Given the description of an element on the screen output the (x, y) to click on. 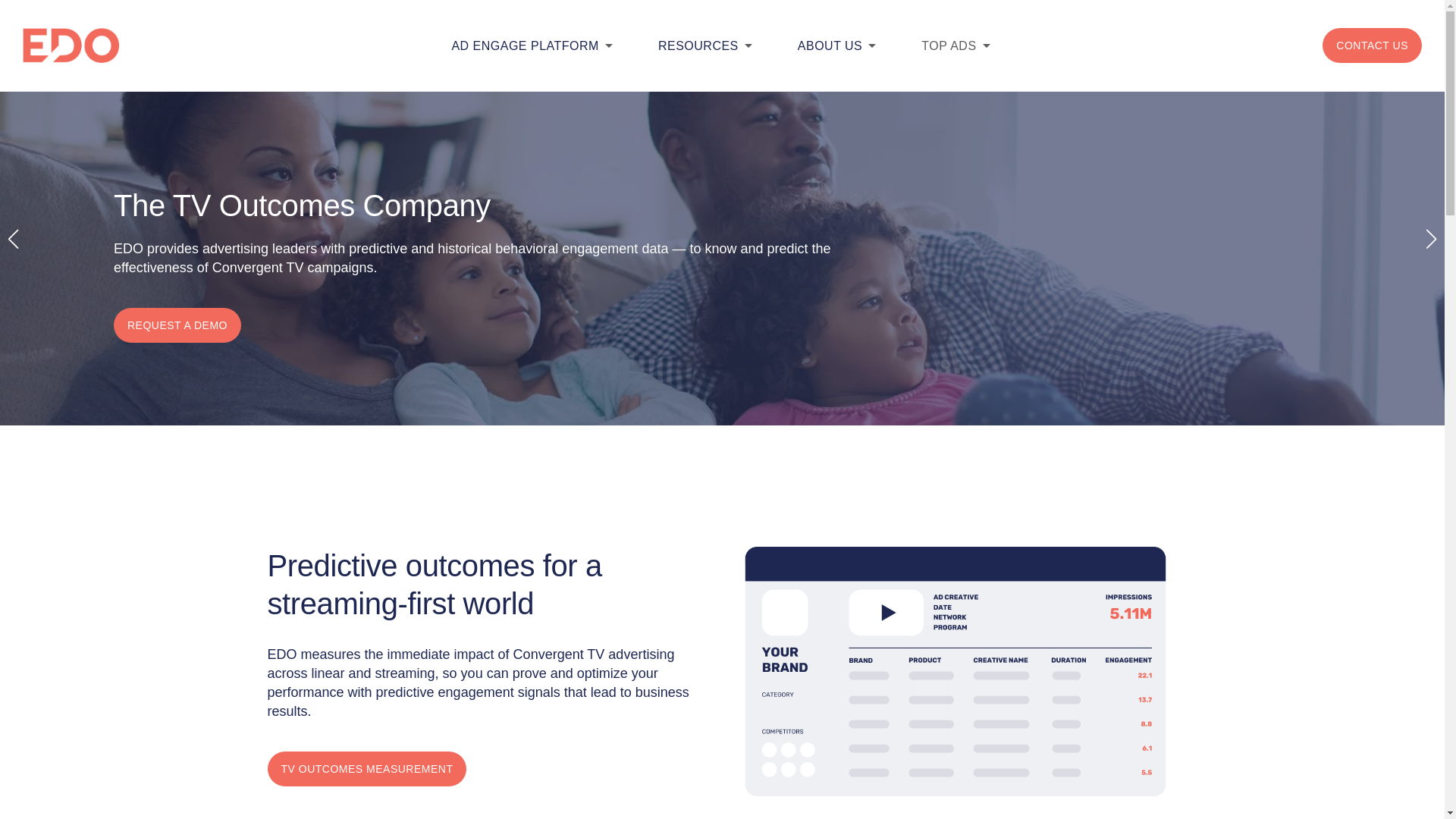
AD ENGAGE PLATFORM (524, 45)
RESOURCES (698, 45)
ABOUT US (830, 45)
Button Request A Demo (177, 325)
Button Tv outcomes measurement (365, 768)
EDO AdEngage Dash (955, 671)
